Given the description of an element on the screen output the (x, y) to click on. 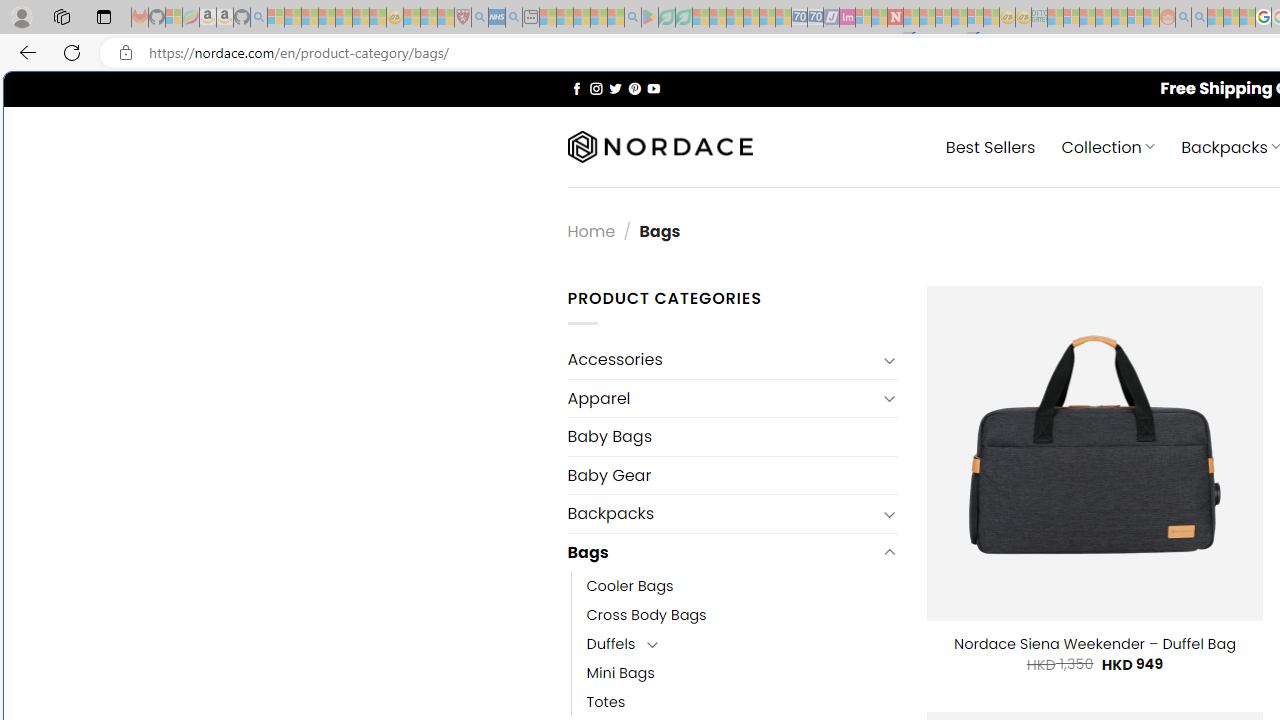
Totes (742, 701)
Follow on Facebook (576, 88)
Duffels (611, 643)
Baby Bags (732, 435)
Accessories (721, 359)
Baby Bags (732, 436)
Baby Gear (732, 475)
Follow on YouTube (653, 88)
